Given the description of an element on the screen output the (x, y) to click on. 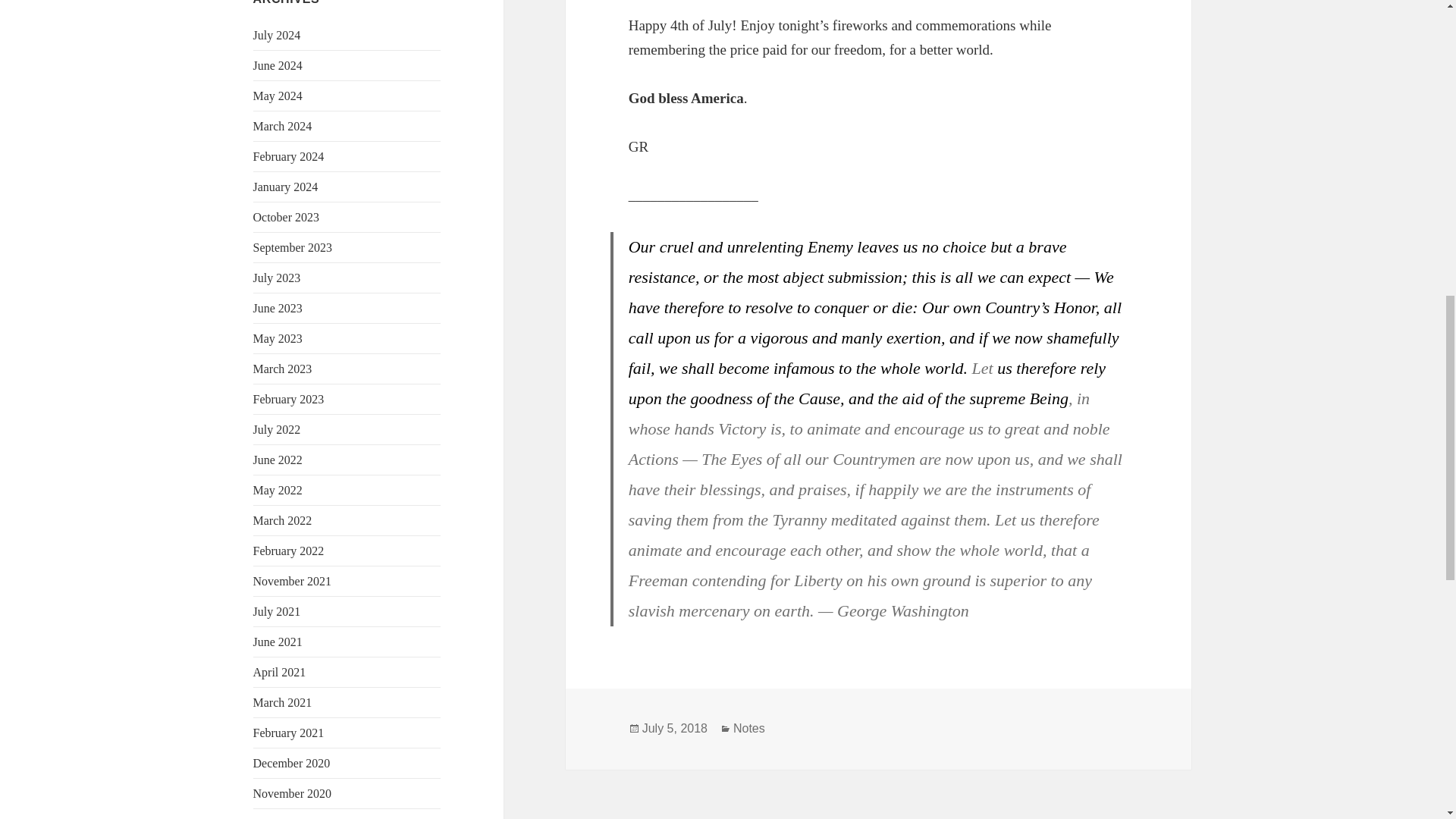
March 2024 (283, 125)
October 2023 (286, 216)
July 2024 (277, 34)
June 2023 (277, 308)
May 2024 (277, 95)
July 2023 (277, 277)
January 2024 (285, 186)
September 2023 (292, 246)
February 2022 (288, 550)
February 2024 (288, 155)
May 2022 (277, 490)
March 2022 (283, 520)
May 2023 (277, 338)
February 2023 (288, 399)
June 2024 (277, 65)
